Given the description of an element on the screen output the (x, y) to click on. 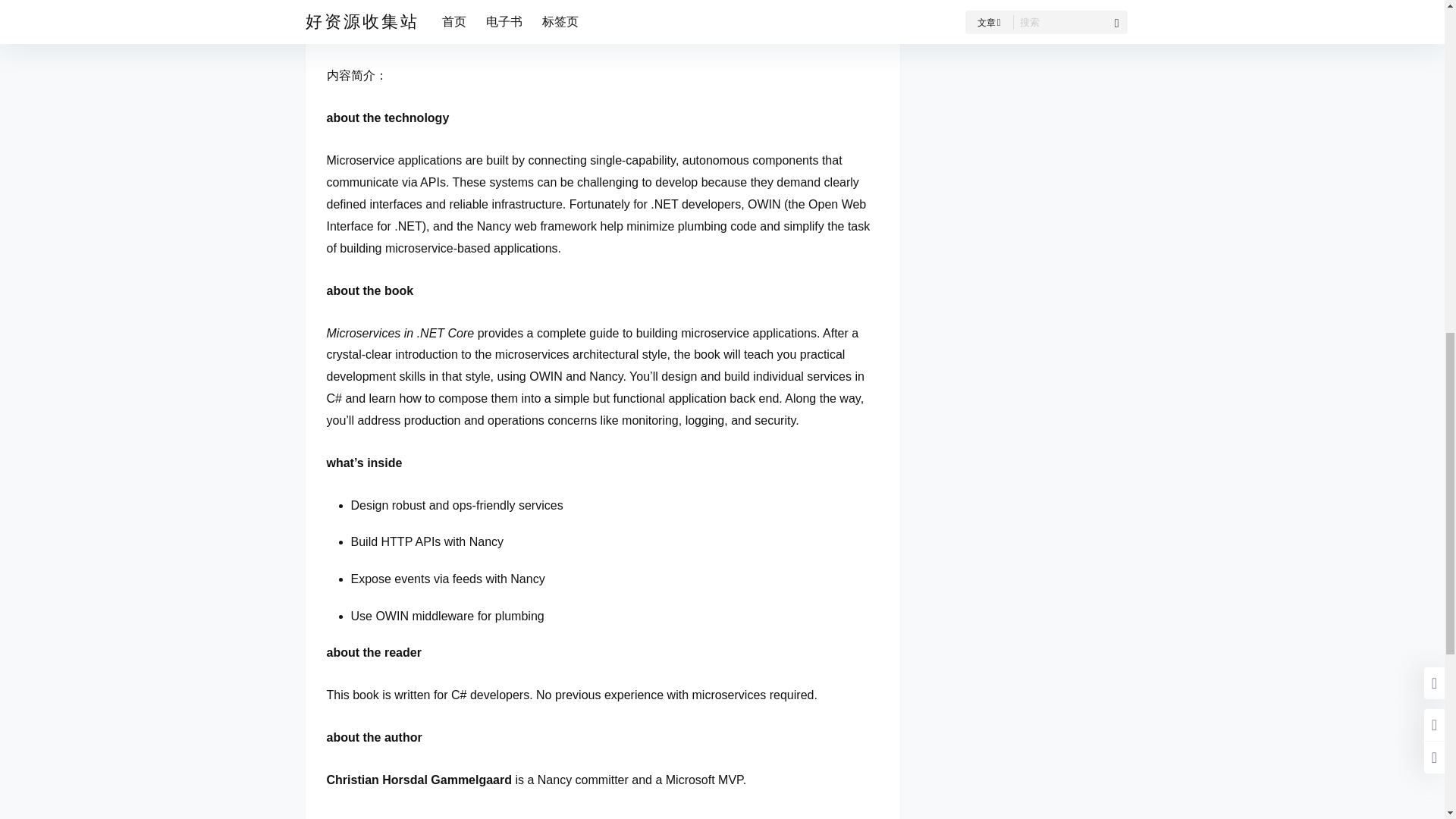
Manning (411, 11)
